Given the description of an element on the screen output the (x, y) to click on. 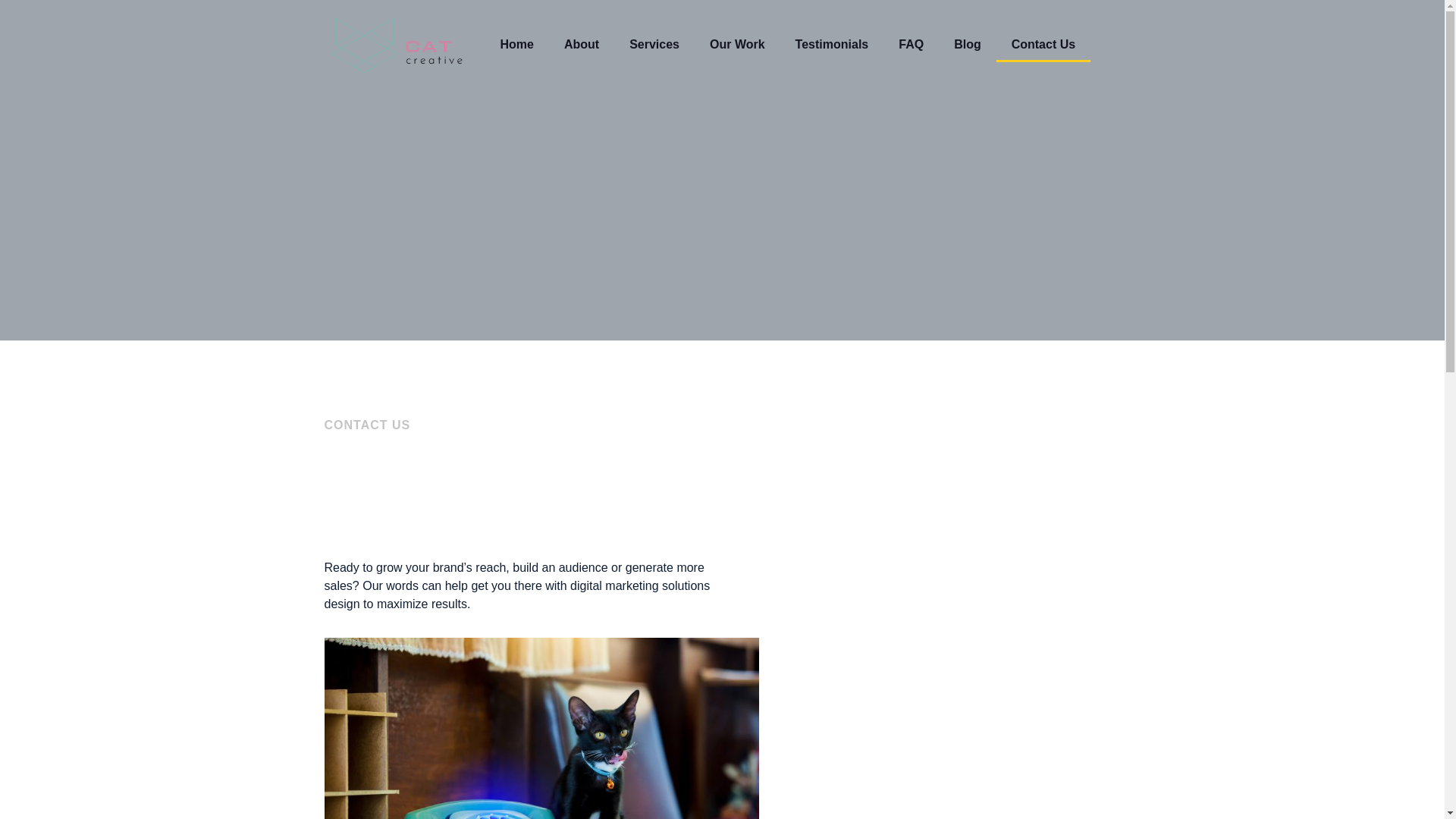
FAQ (911, 44)
Testimonials (831, 44)
Blog (967, 44)
Services (654, 44)
Home (516, 44)
About (581, 44)
Contact Us (1042, 44)
Our Work (737, 44)
Send (950, 749)
